Given the description of an element on the screen output the (x, y) to click on. 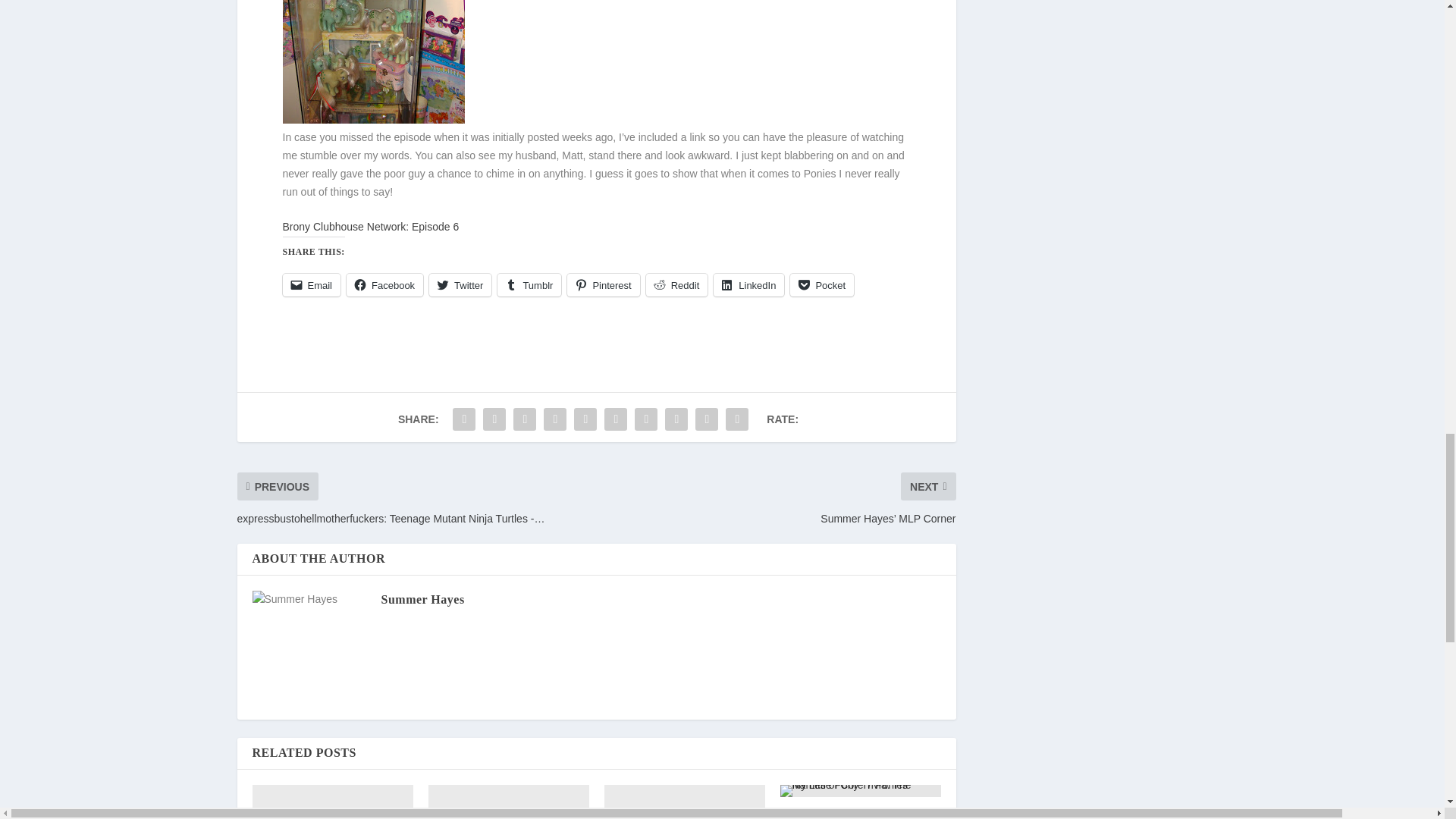
Email (311, 284)
Brony Clubhouse Network: Episode 6 (370, 226)
Click to share on Twitter (460, 284)
Click to share on Tumblr (528, 284)
Click to share on Facebook (384, 284)
Click to share on Reddit (676, 284)
Click to email a link to a friend (311, 284)
Click to share on Pinterest (603, 284)
Facebook (384, 284)
Click to share on LinkedIn (748, 284)
